Given the description of an element on the screen output the (x, y) to click on. 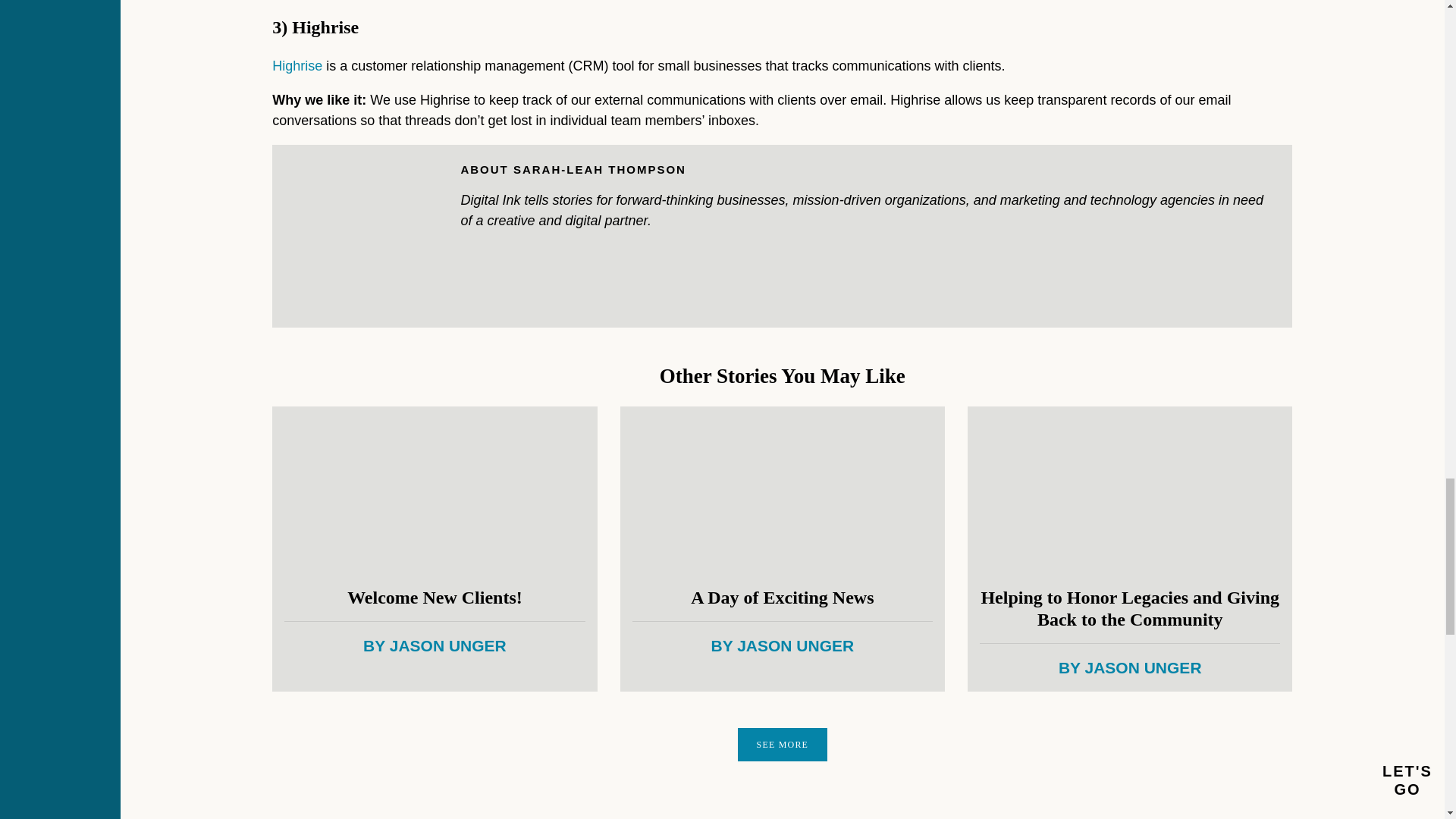
Highrise (296, 65)
